Given the description of an element on the screen output the (x, y) to click on. 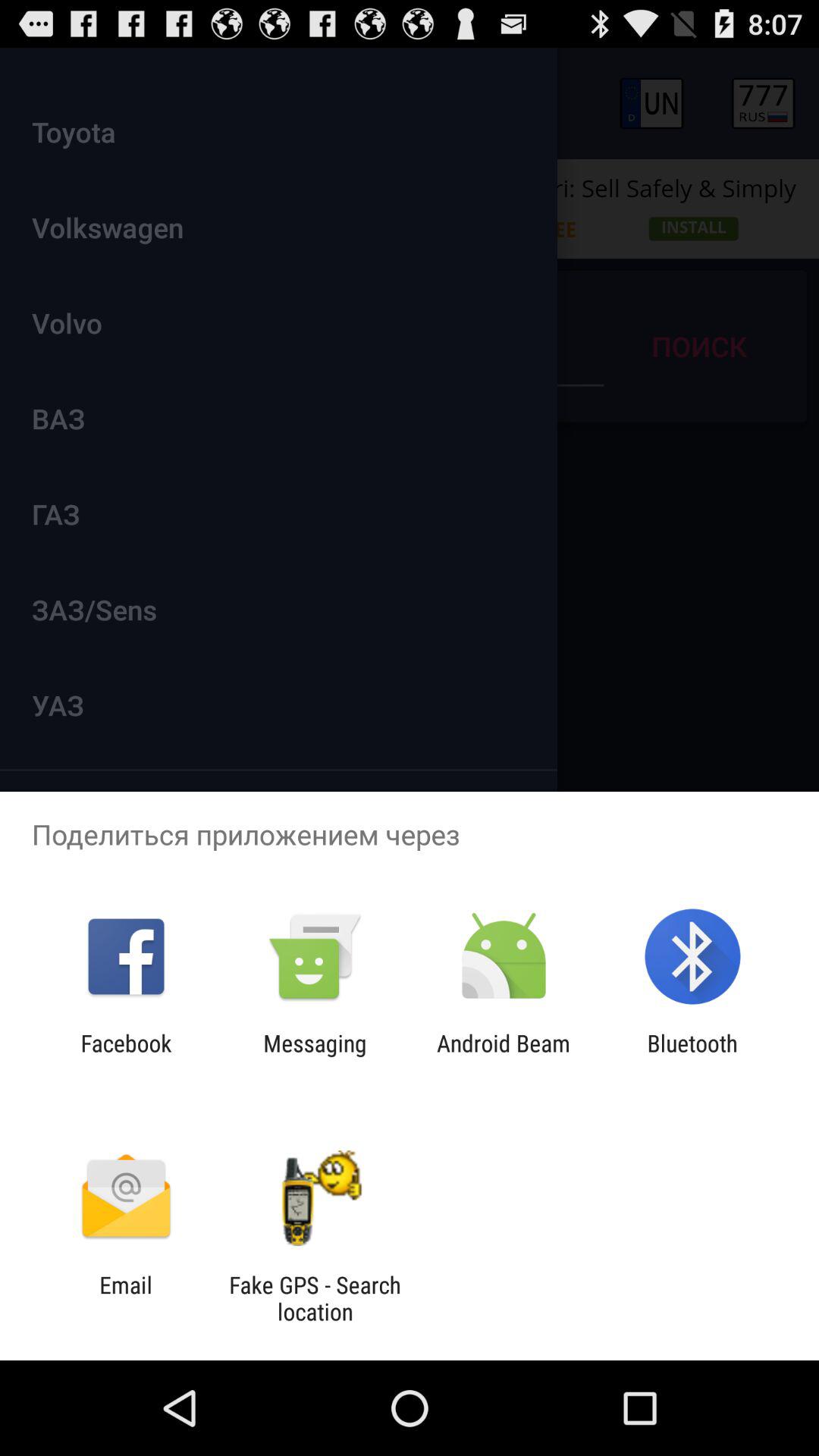
press item next to the messaging (125, 1056)
